Given the description of an element on the screen output the (x, y) to click on. 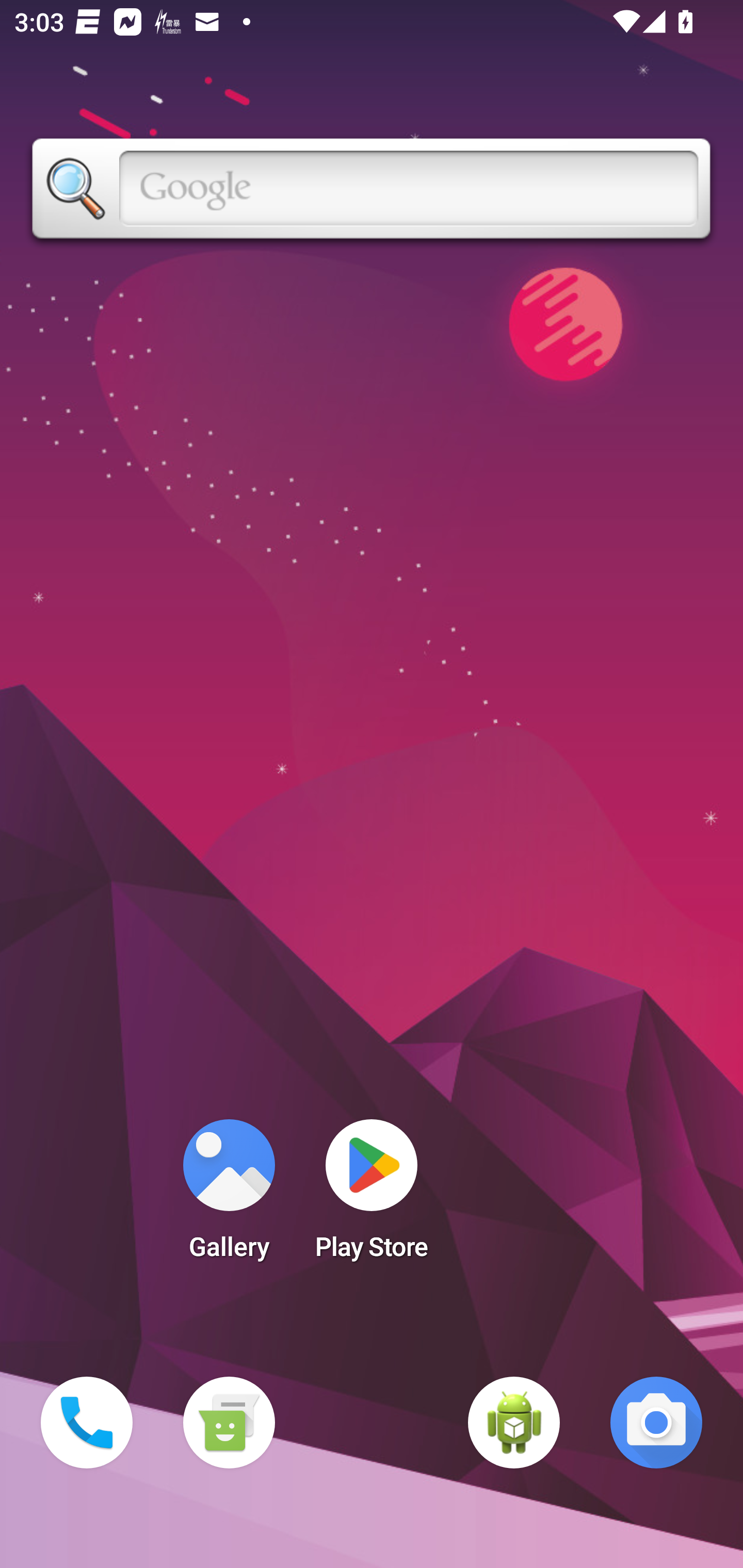
Gallery (228, 1195)
Play Store (371, 1195)
Phone (86, 1422)
Messaging (228, 1422)
WebView Browser Tester (513, 1422)
Camera (656, 1422)
